Given the description of an element on the screen output the (x, y) to click on. 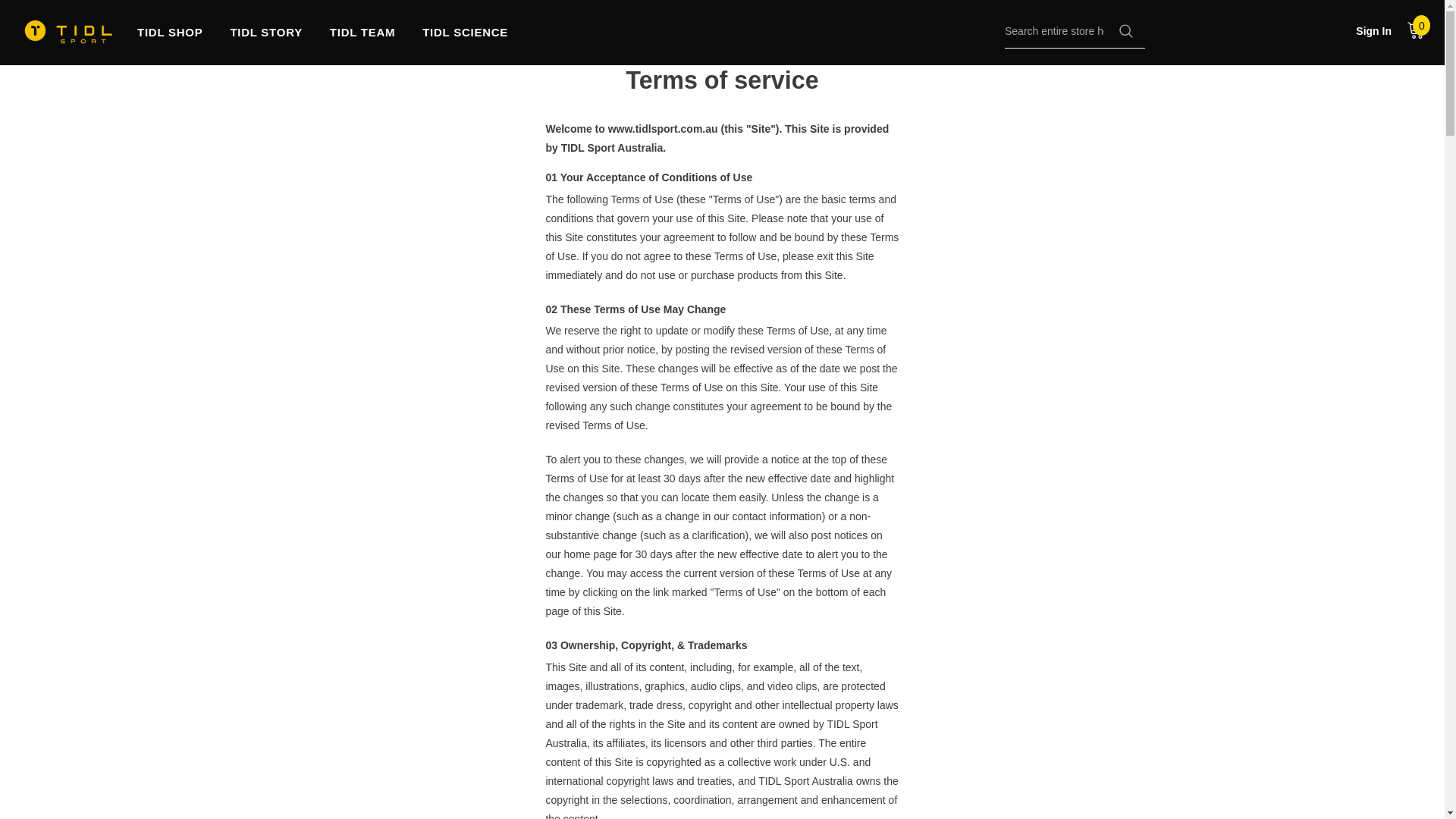
TIDL SCIENCE (465, 39)
TIDL STORY (266, 39)
0 (1415, 29)
Sign In (1373, 29)
TIDL TEAM (362, 39)
TIDL SHOP (169, 39)
Cart Icon (1415, 29)
Logo (68, 31)
